Given the description of an element on the screen output the (x, y) to click on. 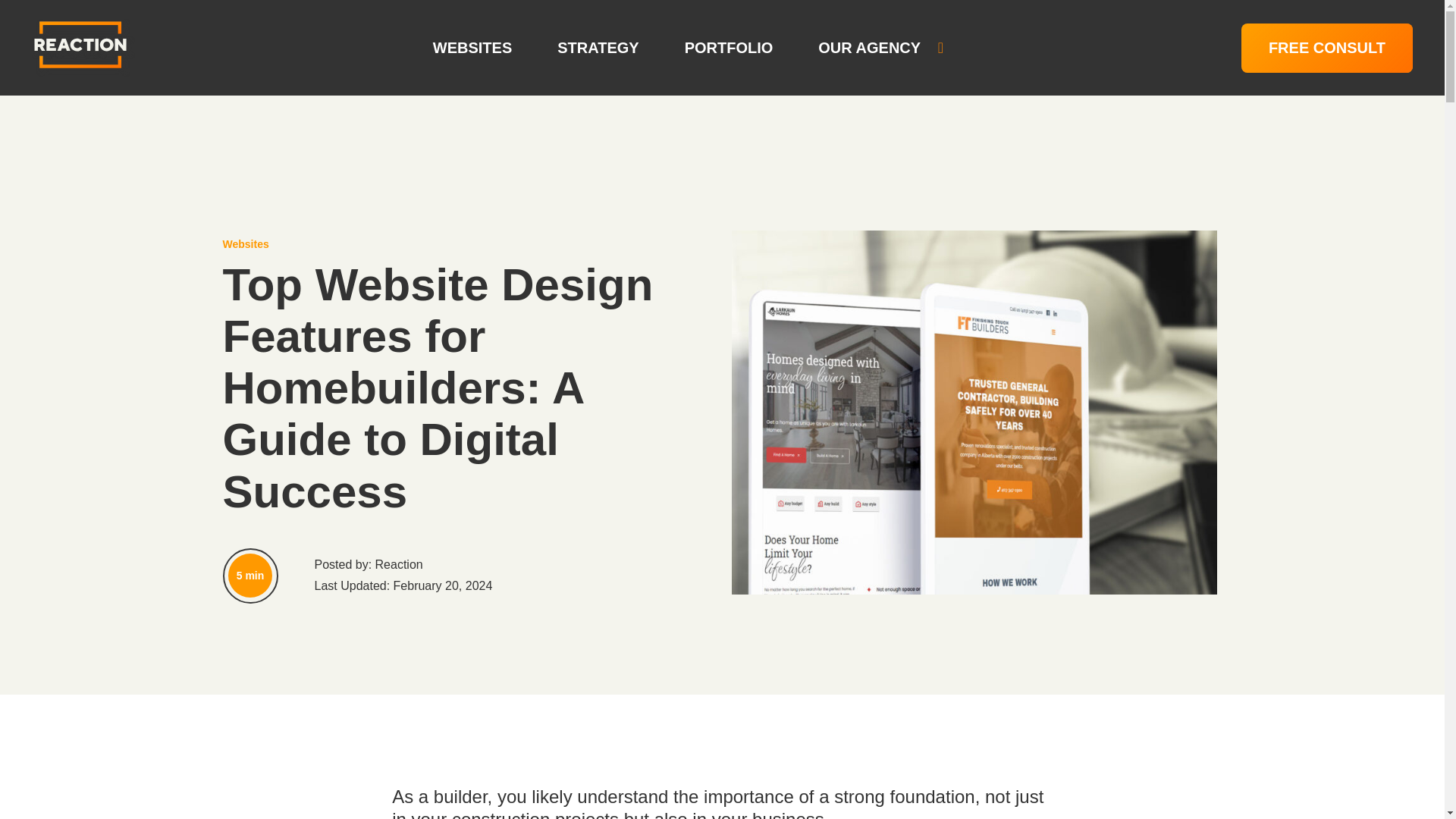
PORTFOLIO (728, 47)
STRATEGY (598, 47)
OUR AGENCY (880, 47)
WEBSITES (472, 47)
FREE CONSULT (1326, 47)
